Given the description of an element on the screen output the (x, y) to click on. 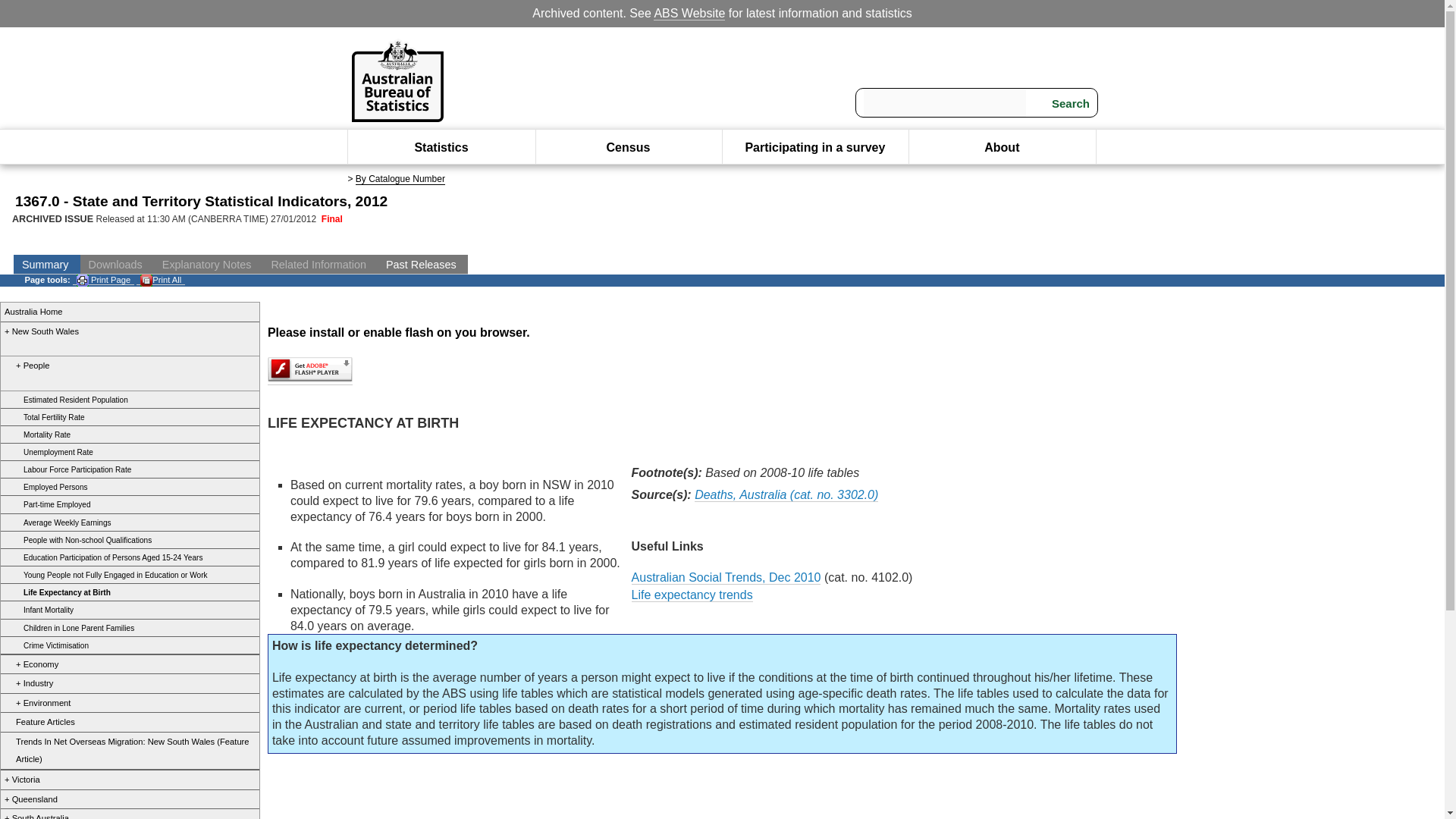
Infant Mortality (39, 609)
Part-time Employed (47, 504)
Search (1060, 102)
Print Page (102, 280)
Statistics (440, 147)
Participating in a survey (814, 147)
View by Catalogue (400, 179)
Children in Lone Parent Families (69, 627)
Explanatory Notes (208, 264)
People with Non-school Qualifications (78, 539)
